Given the description of an element on the screen output the (x, y) to click on. 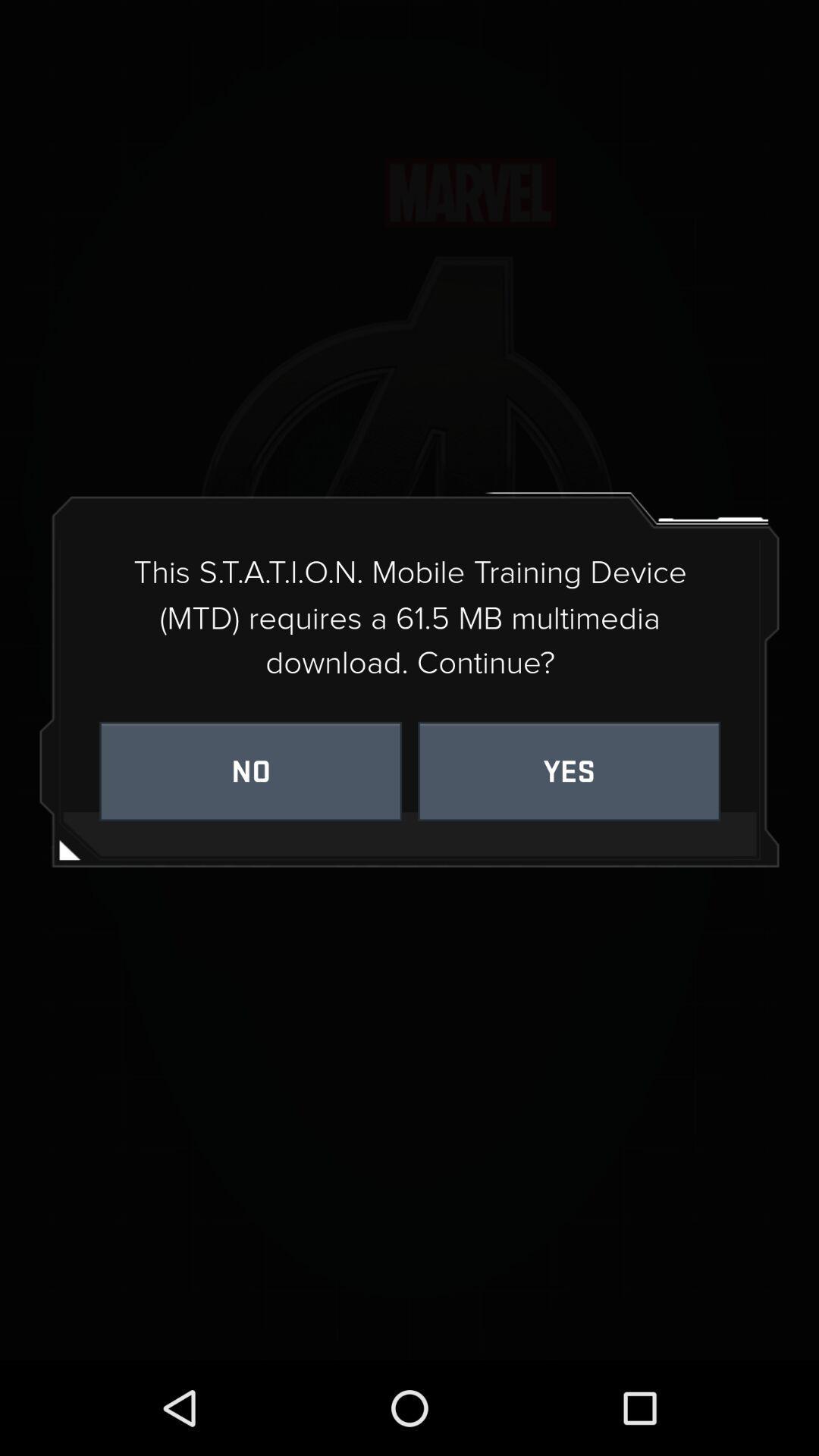
launch item below this s t icon (569, 771)
